Given the description of an element on the screen output the (x, y) to click on. 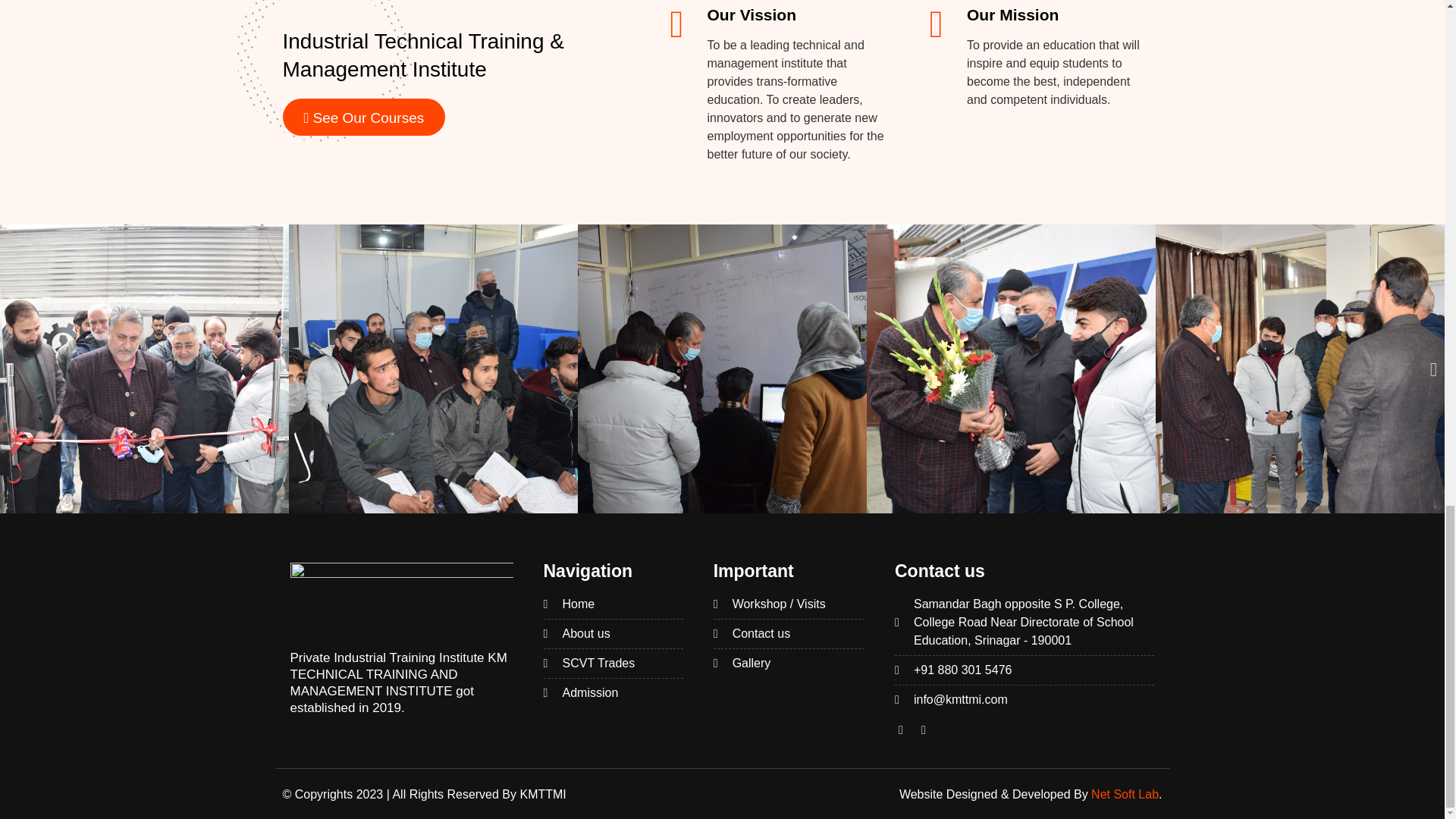
Gallery (788, 663)
About us (612, 633)
Admission (612, 692)
SCVT Trades (612, 663)
Our Mission (1012, 14)
See Our Courses (363, 116)
Net Soft Lab (1124, 793)
Our Vission (751, 14)
Home (612, 604)
Contact us (788, 633)
